Given the description of an element on the screen output the (x, y) to click on. 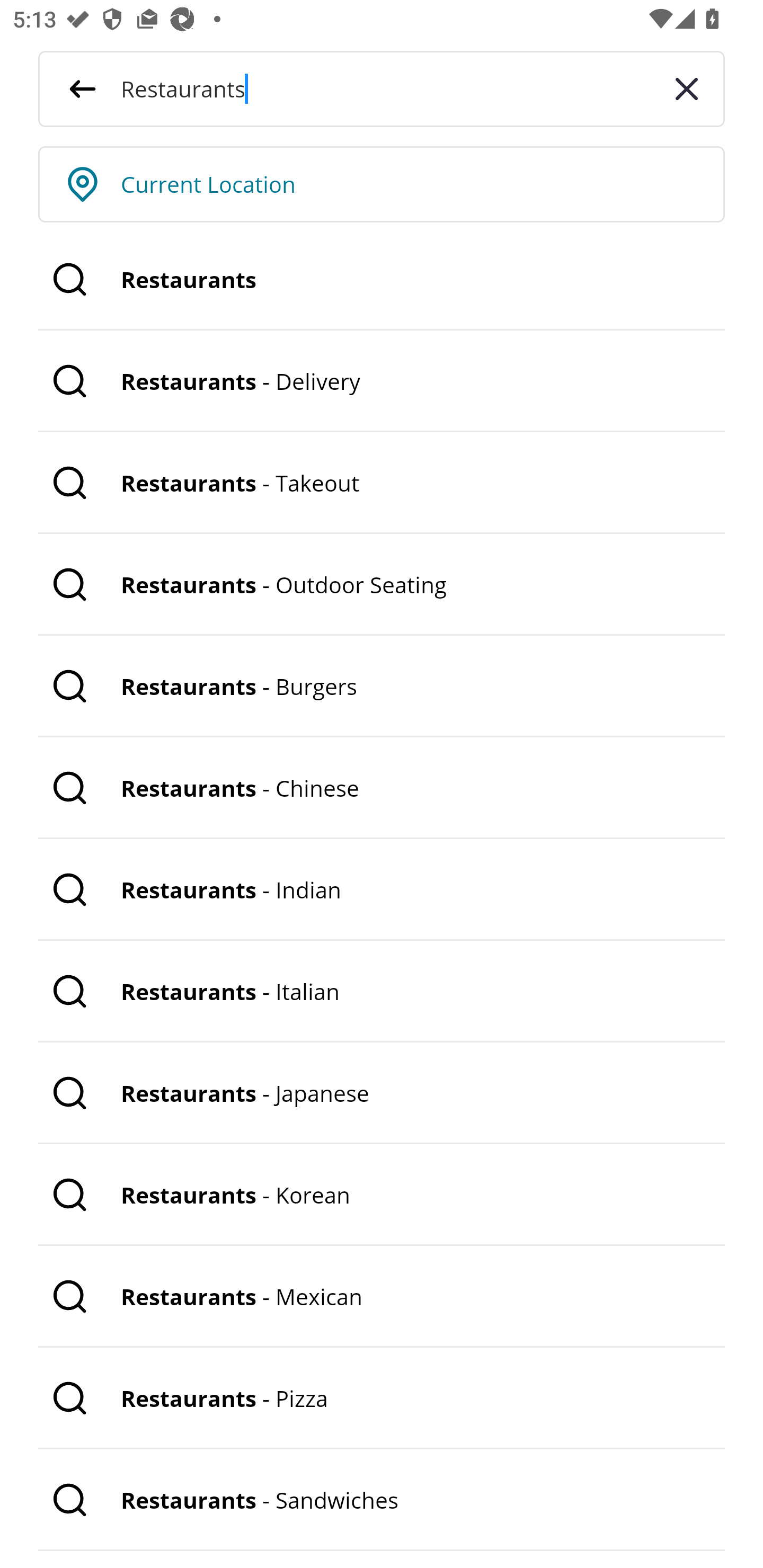
Current Location (422, 184)
